Given the description of an element on the screen output the (x, y) to click on. 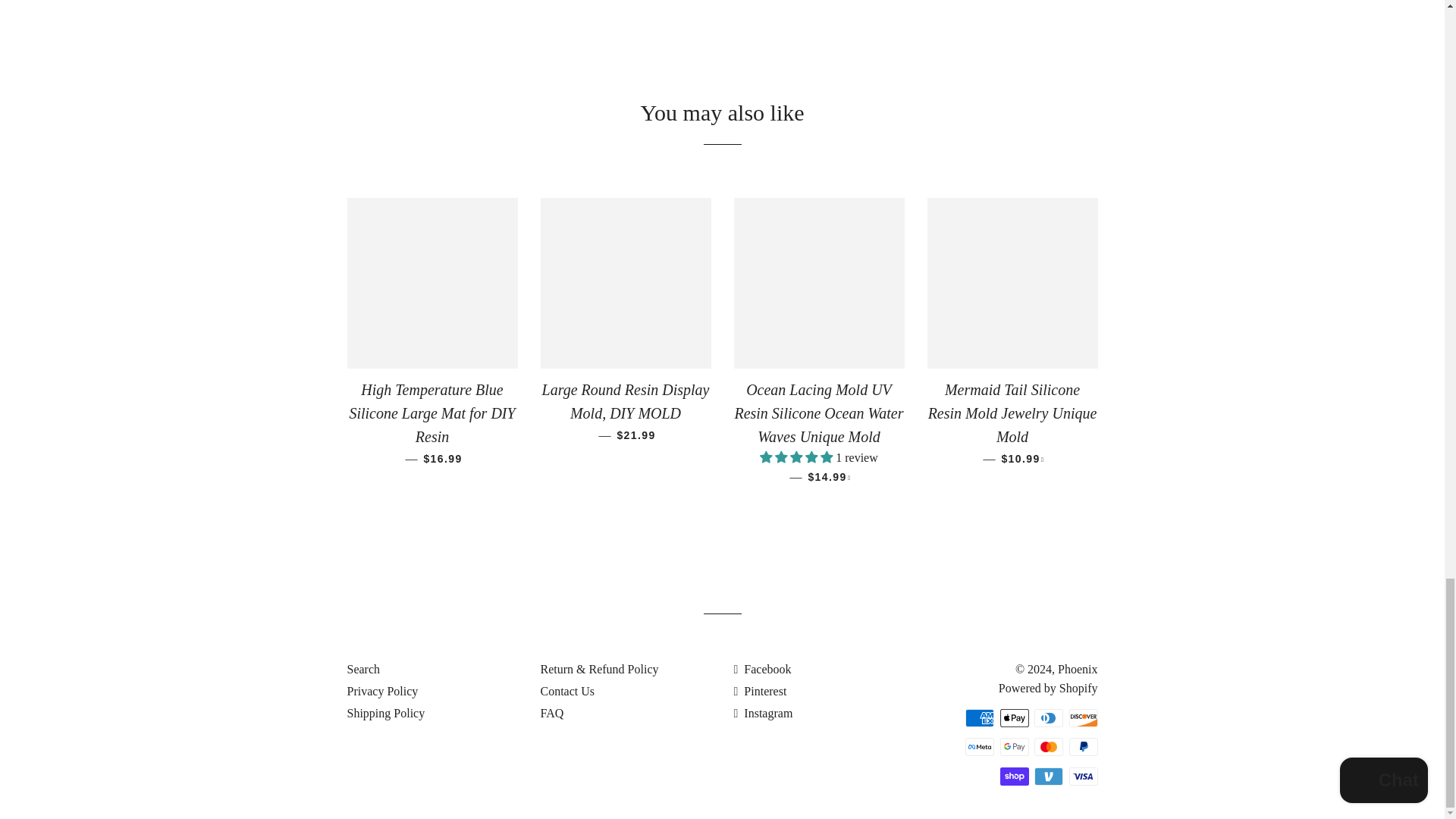
Mastercard (1047, 746)
American Express (979, 718)
Discover (1082, 718)
Apple Pay (1012, 718)
Google Pay (1012, 746)
PayPal (1082, 746)
Phoenix on Pinterest (760, 690)
Diners Club (1047, 718)
Phoenix on Facebook (762, 668)
Phoenix on Instagram (763, 712)
